Given the description of an element on the screen output the (x, y) to click on. 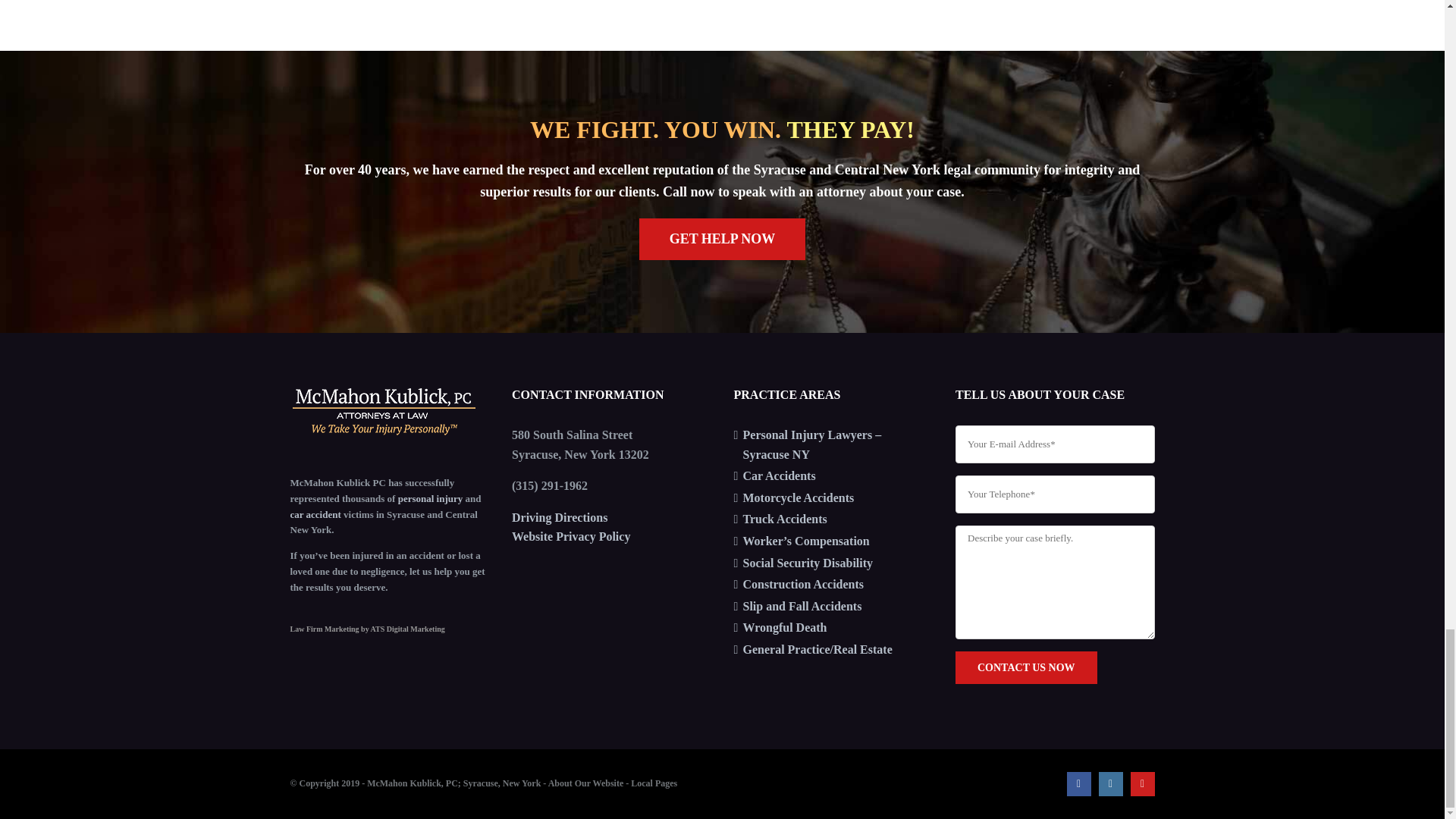
Contact us now (1026, 667)
YouTube (1141, 784)
Facebook (1077, 784)
Instagram (1109, 784)
